Given the description of an element on the screen output the (x, y) to click on. 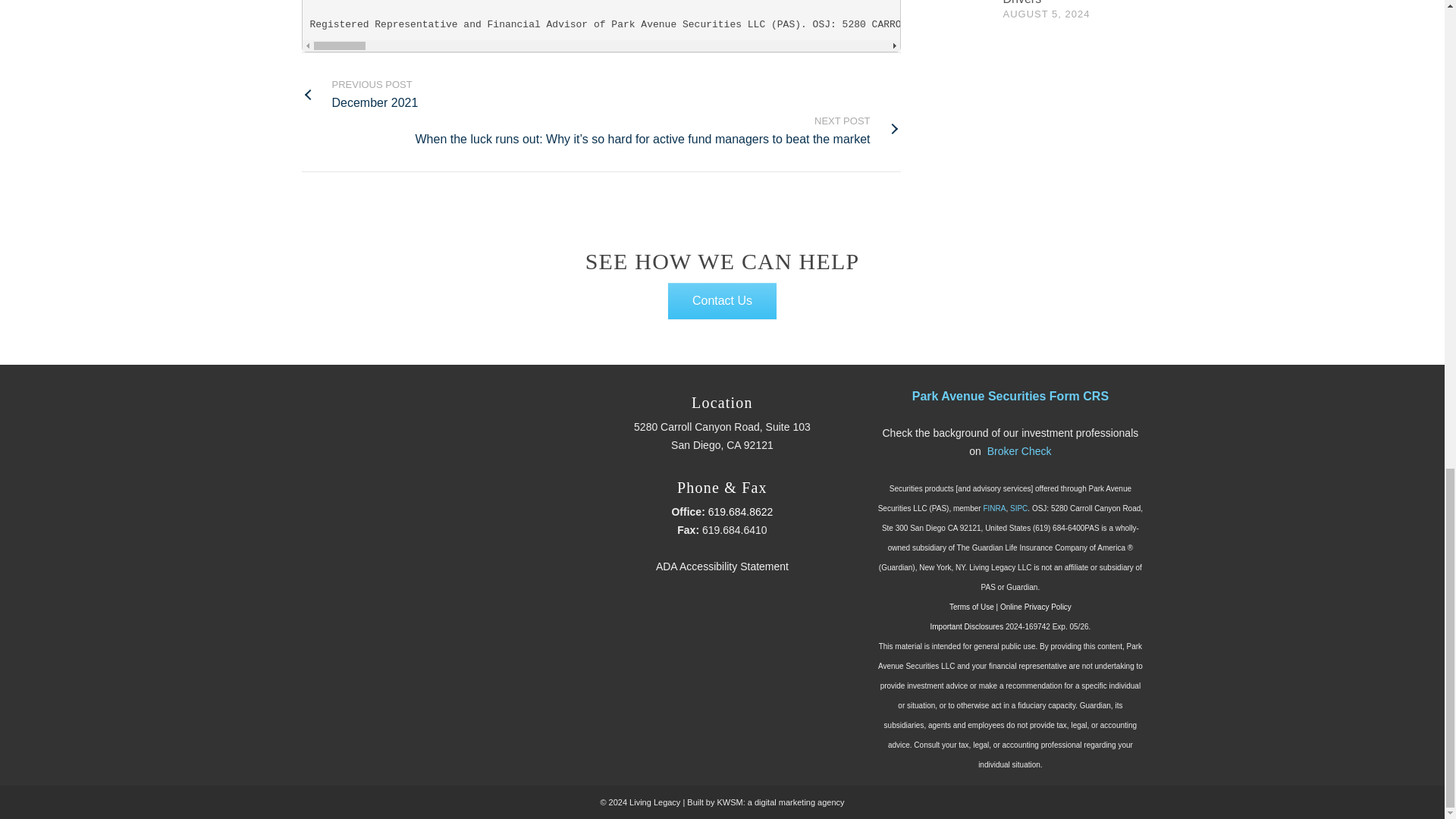
Older Cars, Thriftier Drivers (360, 94)
Older Cars, Thriftier Drivers (1055, 2)
